Given the description of an element on the screen output the (x, y) to click on. 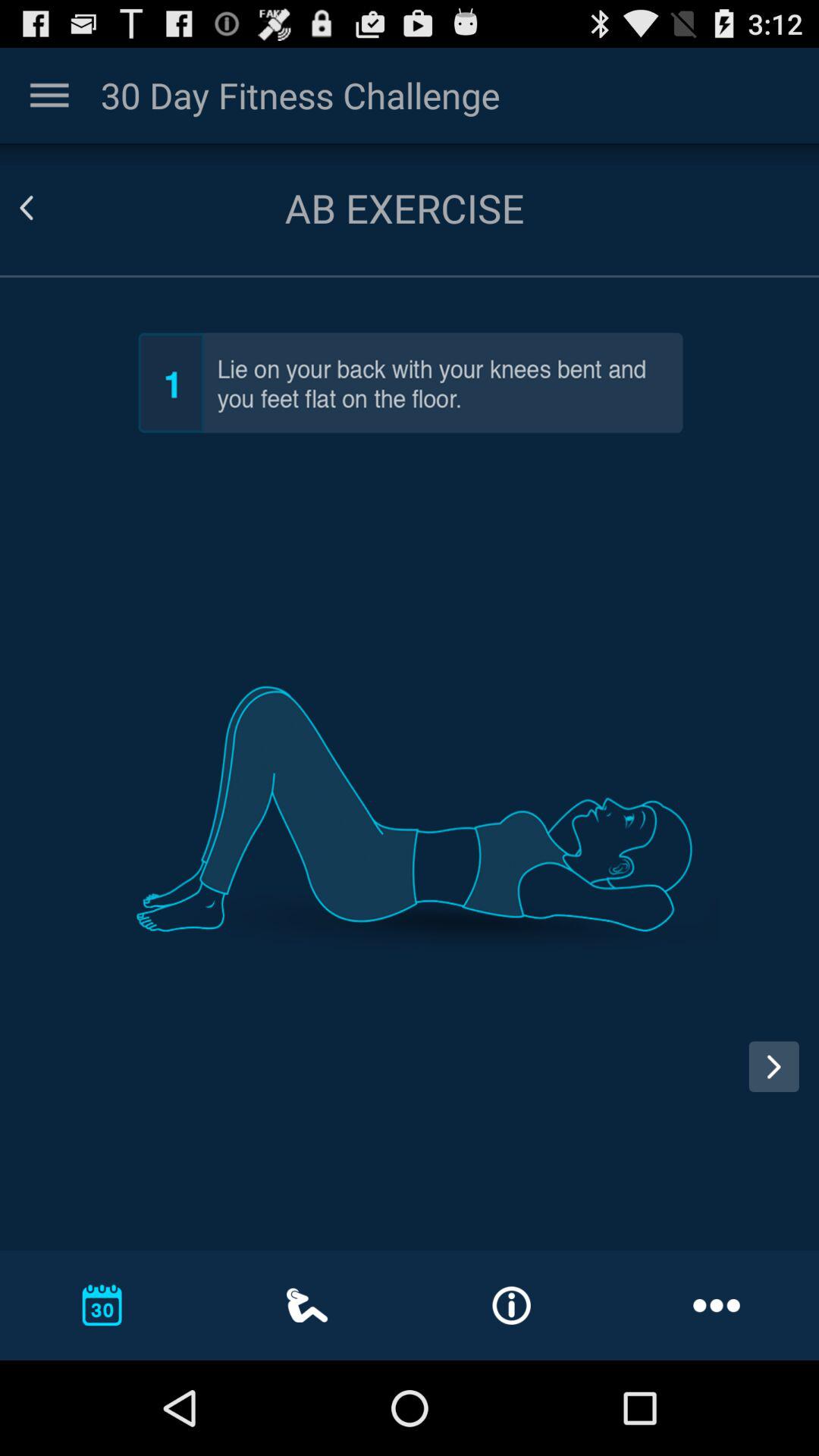
select back (44, 208)
